Given the description of an element on the screen output the (x, y) to click on. 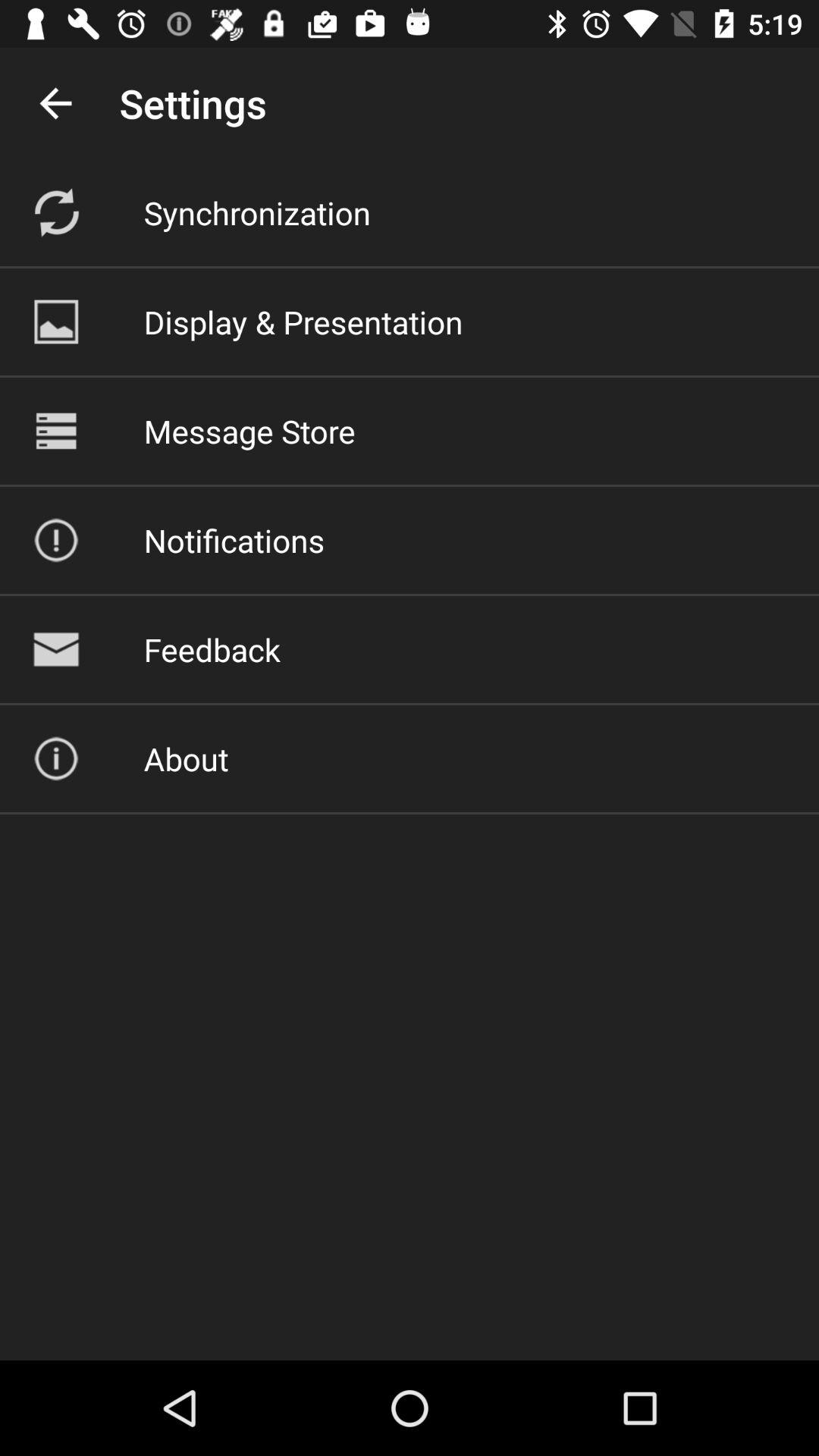
open item below the notifications item (211, 649)
